Given the description of an element on the screen output the (x, y) to click on. 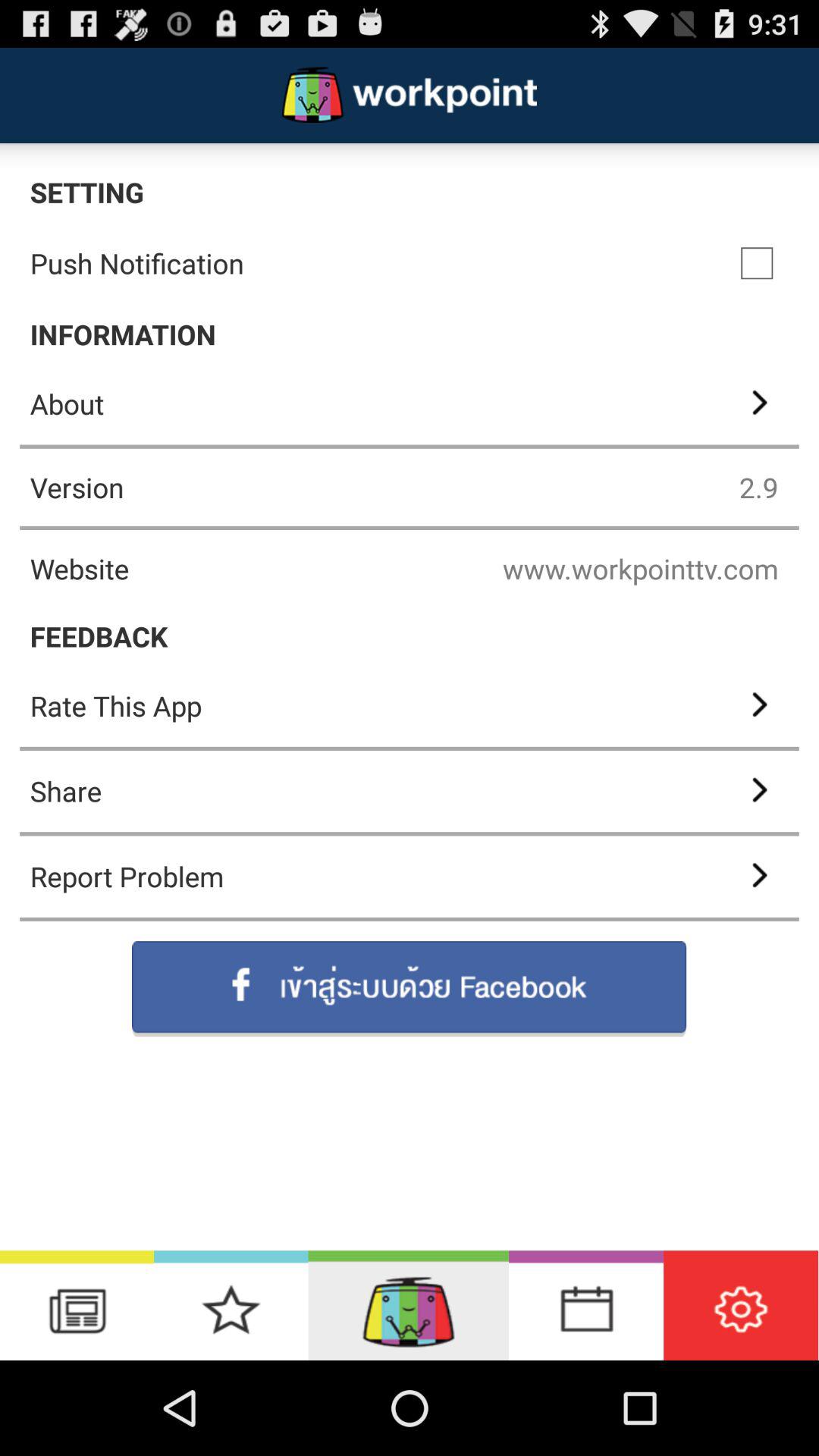
click here to access settings (740, 1305)
